Given the description of an element on the screen output the (x, y) to click on. 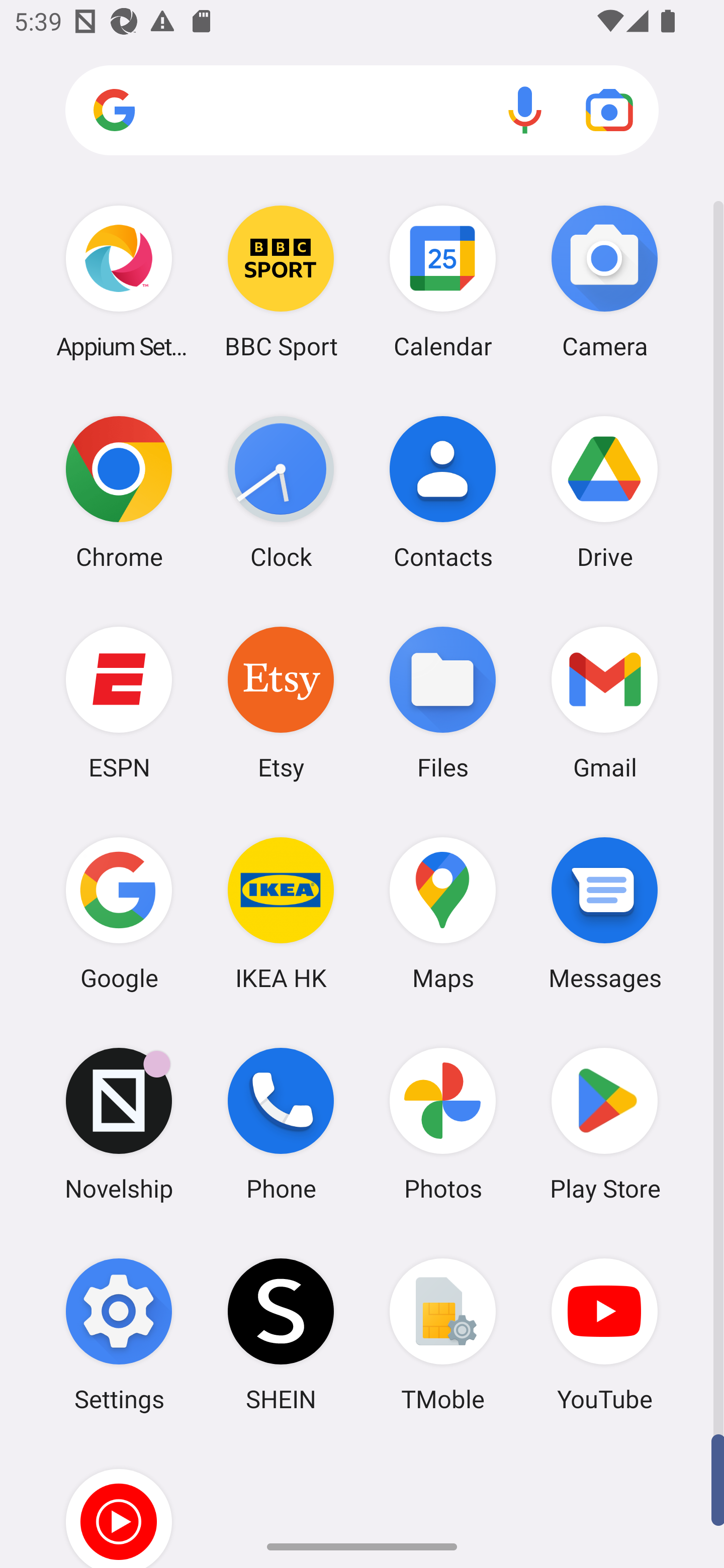
Search apps, web and more (361, 110)
Voice search (524, 109)
Google Lens (608, 109)
Appium Settings (118, 281)
BBC Sport (280, 281)
Calendar (443, 281)
Camera (604, 281)
Chrome (118, 492)
Clock (280, 492)
Contacts (443, 492)
Drive (604, 492)
ESPN (118, 702)
Etsy (280, 702)
Files (443, 702)
Gmail (604, 702)
Google (118, 913)
IKEA HK (280, 913)
Maps (443, 913)
Messages (604, 913)
Novelship Novelship has 1 notification (118, 1124)
Phone (280, 1124)
Photos (443, 1124)
Play Store (604, 1124)
Settings (118, 1334)
SHEIN (280, 1334)
TMoble (443, 1334)
YouTube (604, 1334)
YT Music (118, 1503)
